Given the description of an element on the screen output the (x, y) to click on. 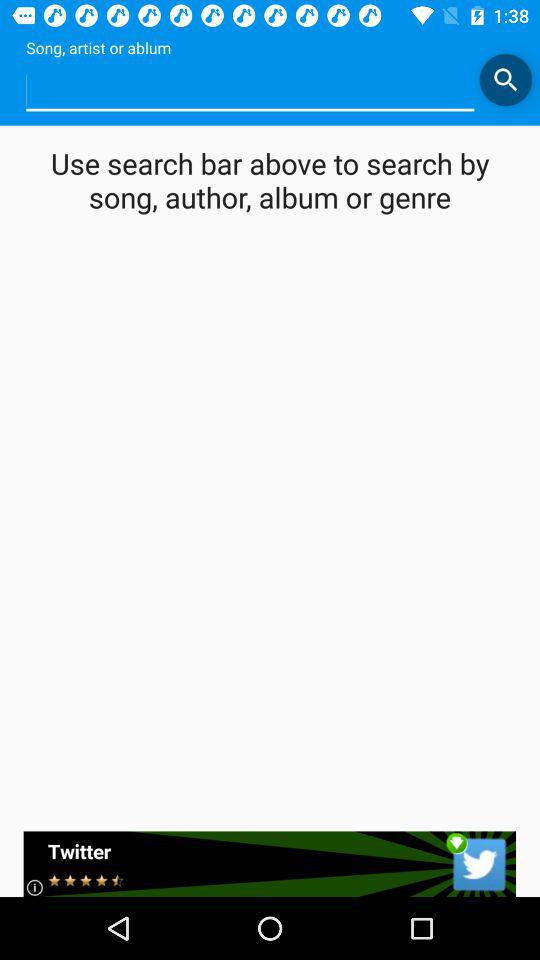
advertisement link (269, 864)
